Given the description of an element on the screen output the (x, y) to click on. 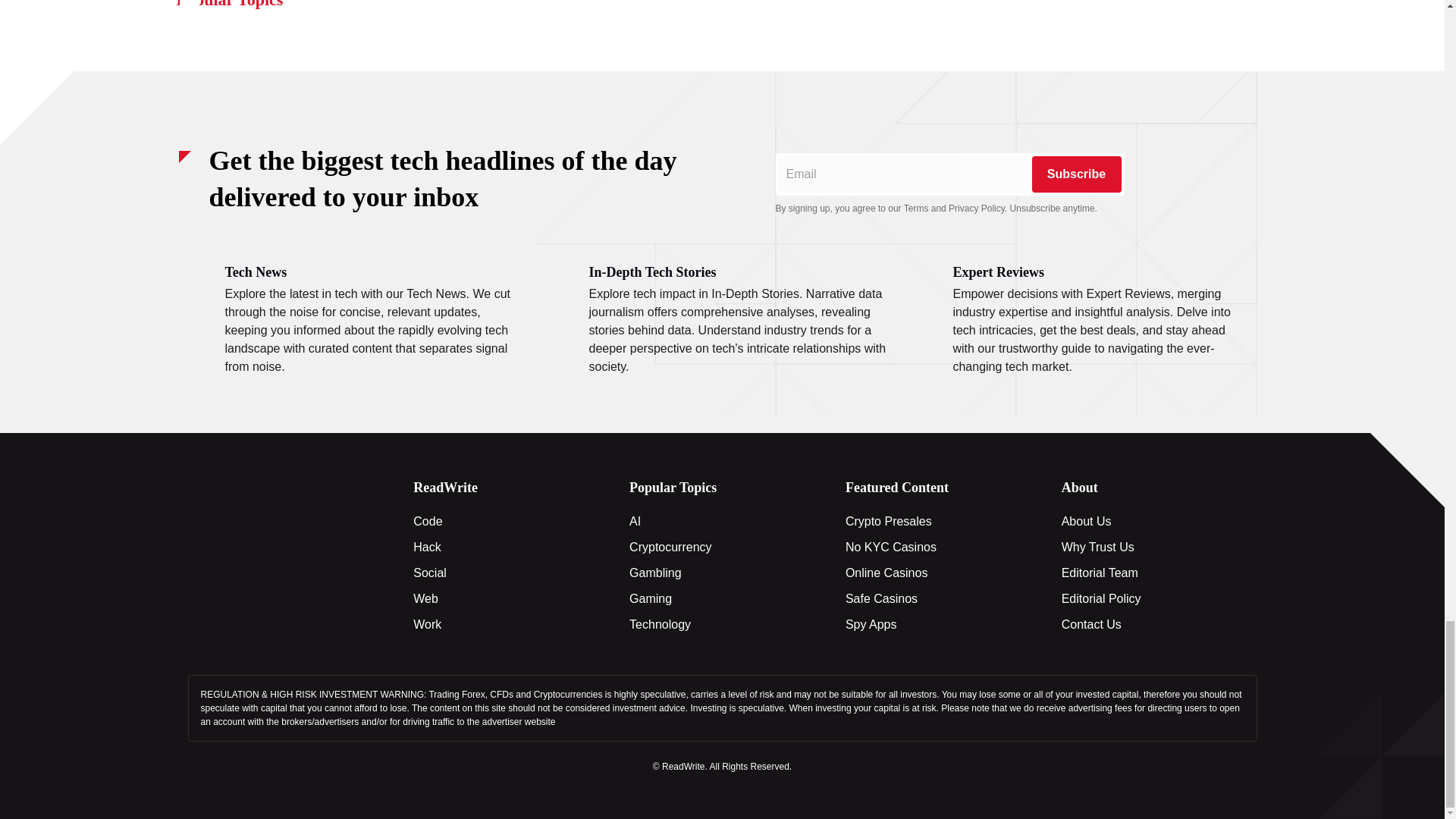
Subscribe (1075, 174)
